Given the description of an element on the screen output the (x, y) to click on. 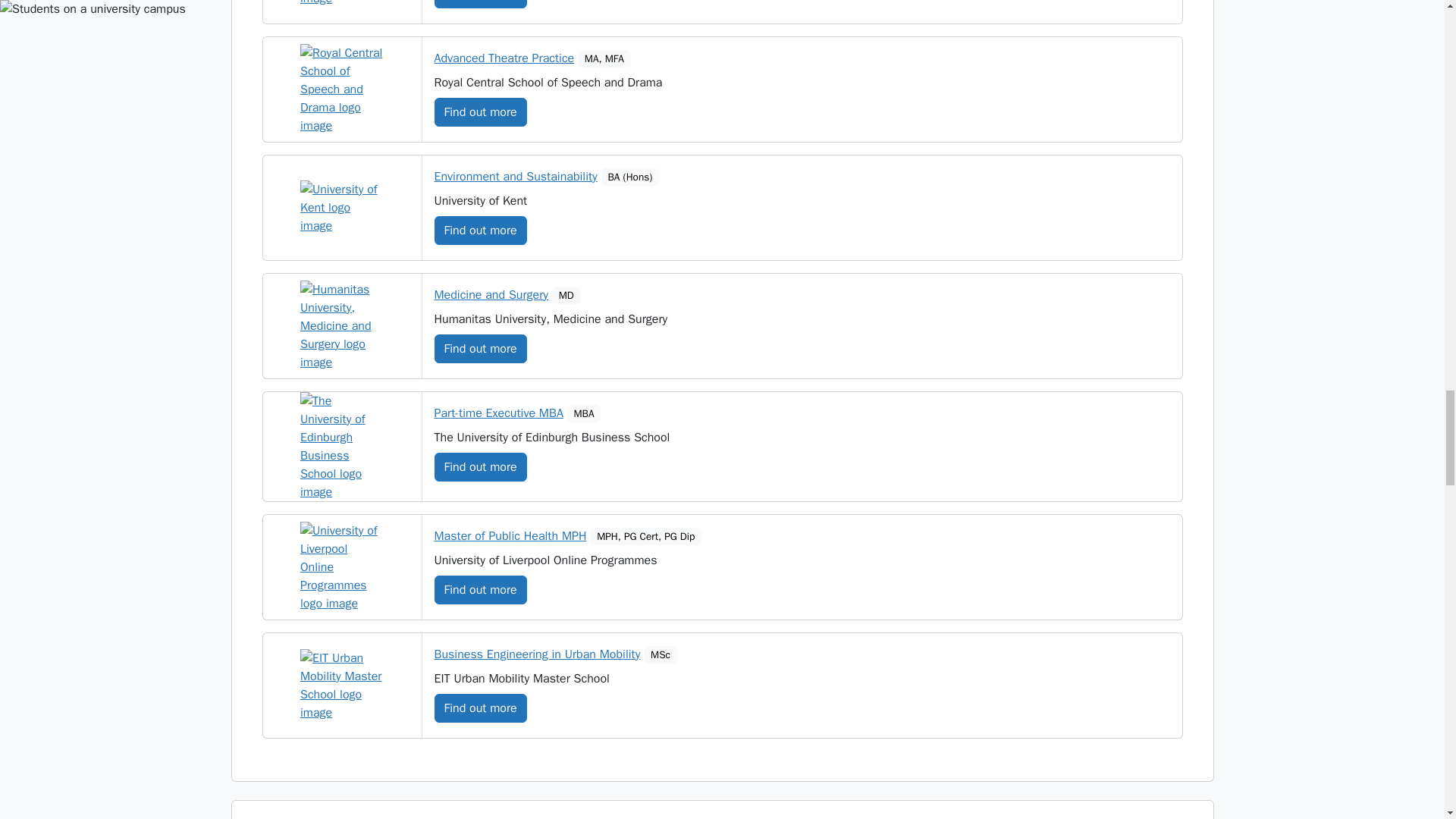
The University of Edinburgh Business School (341, 446)
EIT Urban Mobility Master School (341, 685)
IULM University of Milan (341, 3)
University of Liverpool Online Programmes (341, 566)
Humanitas University, Medicine and Surgery (341, 325)
Royal Central School of Speech and Drama (341, 89)
University of Kent (341, 207)
